Given the description of an element on the screen output the (x, y) to click on. 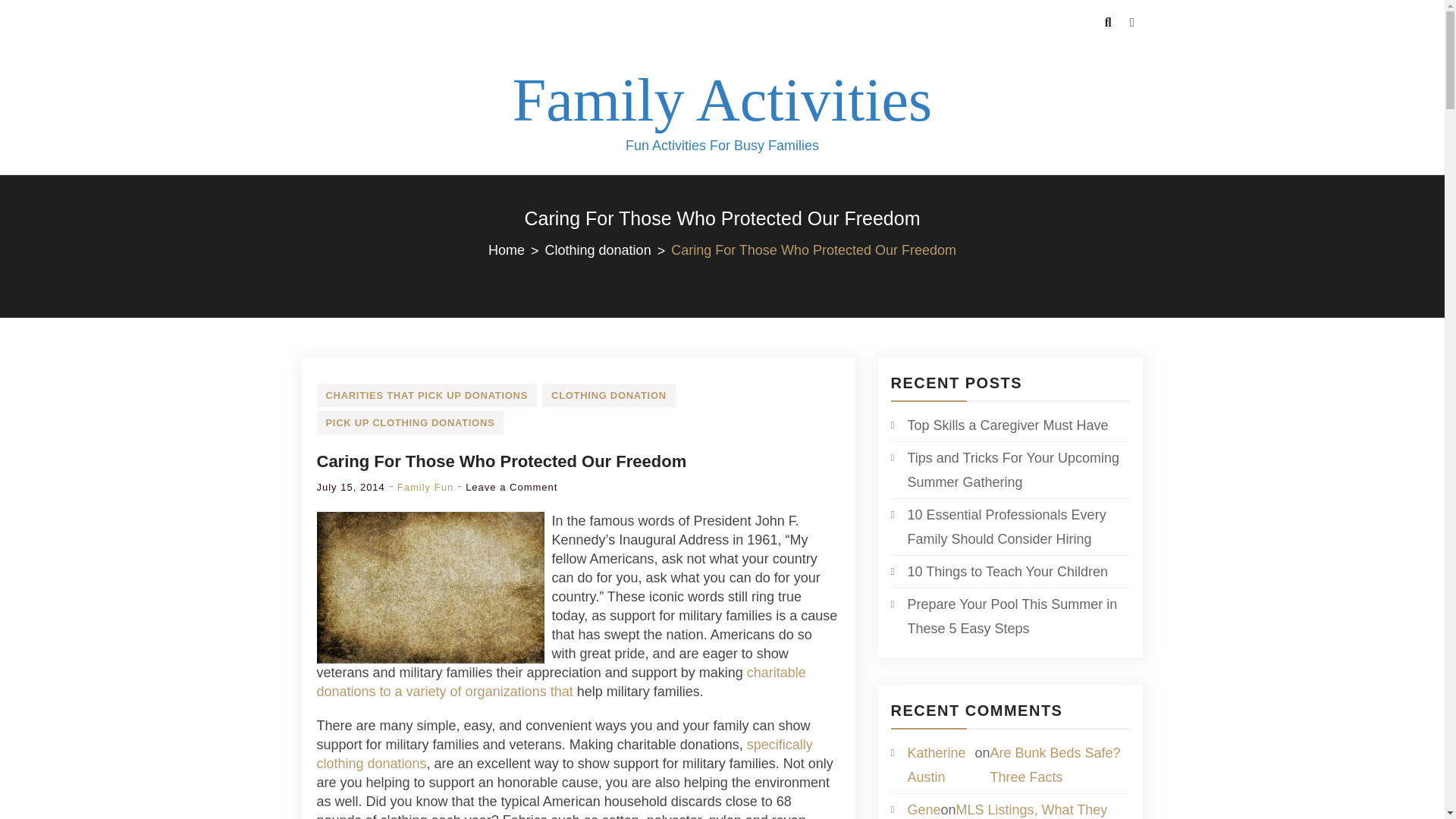
July 15, 2014 (351, 487)
Prepare Your Pool This Summer in These 5 Easy Steps (1009, 616)
Donations for military families (564, 754)
Gene May (923, 810)
Family Activities (721, 99)
Clothes donation, Charity donations (561, 682)
CLOTHING DONATION (608, 395)
Home (515, 250)
Tips and Tricks For Your Upcoming Summer Gathering (1009, 469)
CHARITIES THAT PICK UP DONATIONS (427, 395)
